Given the description of an element on the screen output the (x, y) to click on. 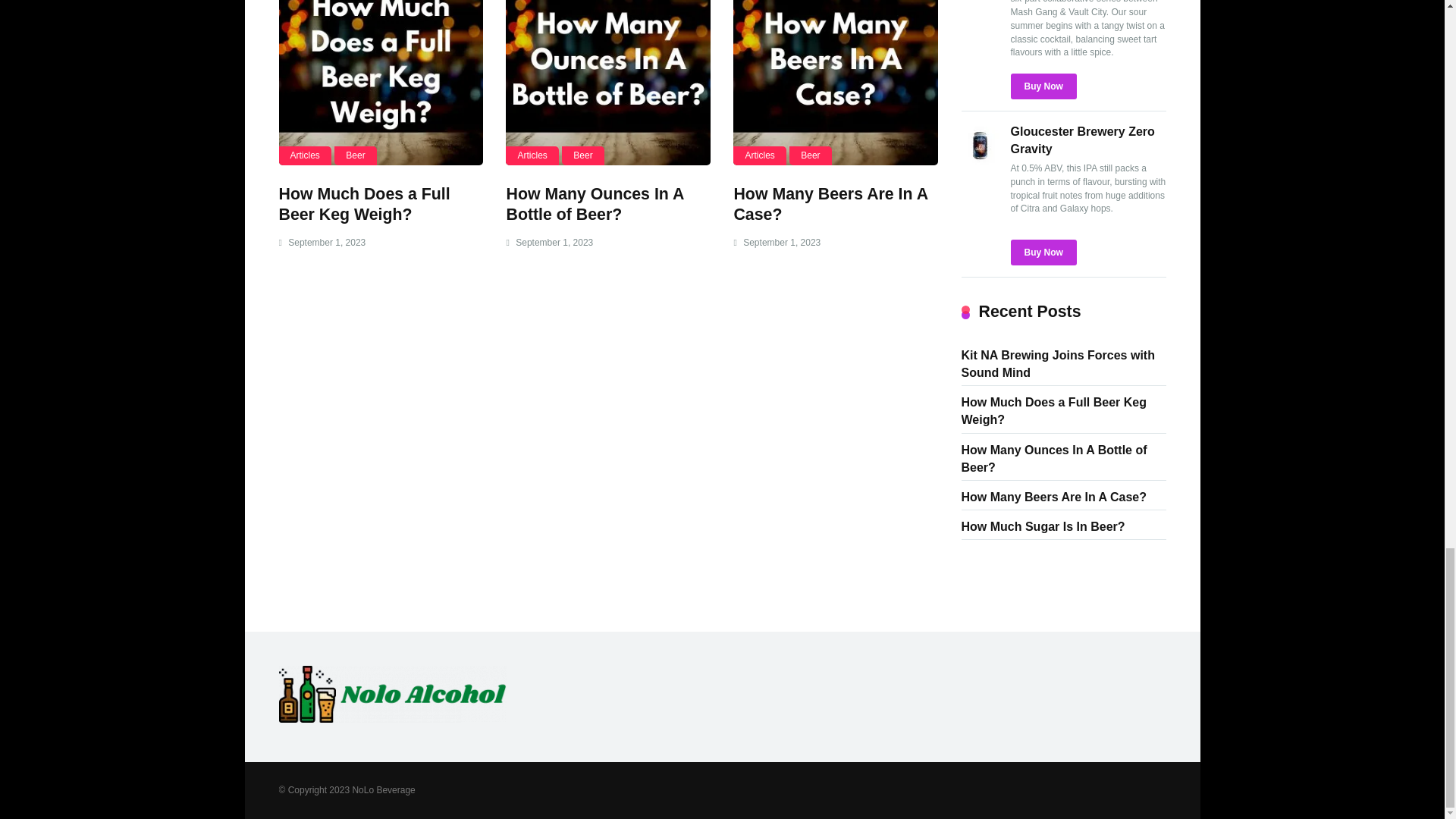
Beer (354, 155)
Articles (531, 155)
How Many Beers Are In A Case? (835, 82)
How Many Beers Are In A Case? (830, 204)
How Much Does a Full Beer Keg Weigh? (364, 204)
How Much Does a Full Beer Keg Weigh? (364, 204)
How Much Does a Full Beer Keg Weigh? (381, 82)
Articles (759, 155)
Beer (810, 155)
Articles (305, 155)
How Many Beers Are In A Case? (830, 204)
How Many Ounces In A Bottle of Beer? (607, 82)
How Many Ounces In A Bottle of Beer? (593, 204)
How Many Ounces In A Bottle of Beer? (593, 204)
Beer (583, 155)
